Given the description of an element on the screen output the (x, y) to click on. 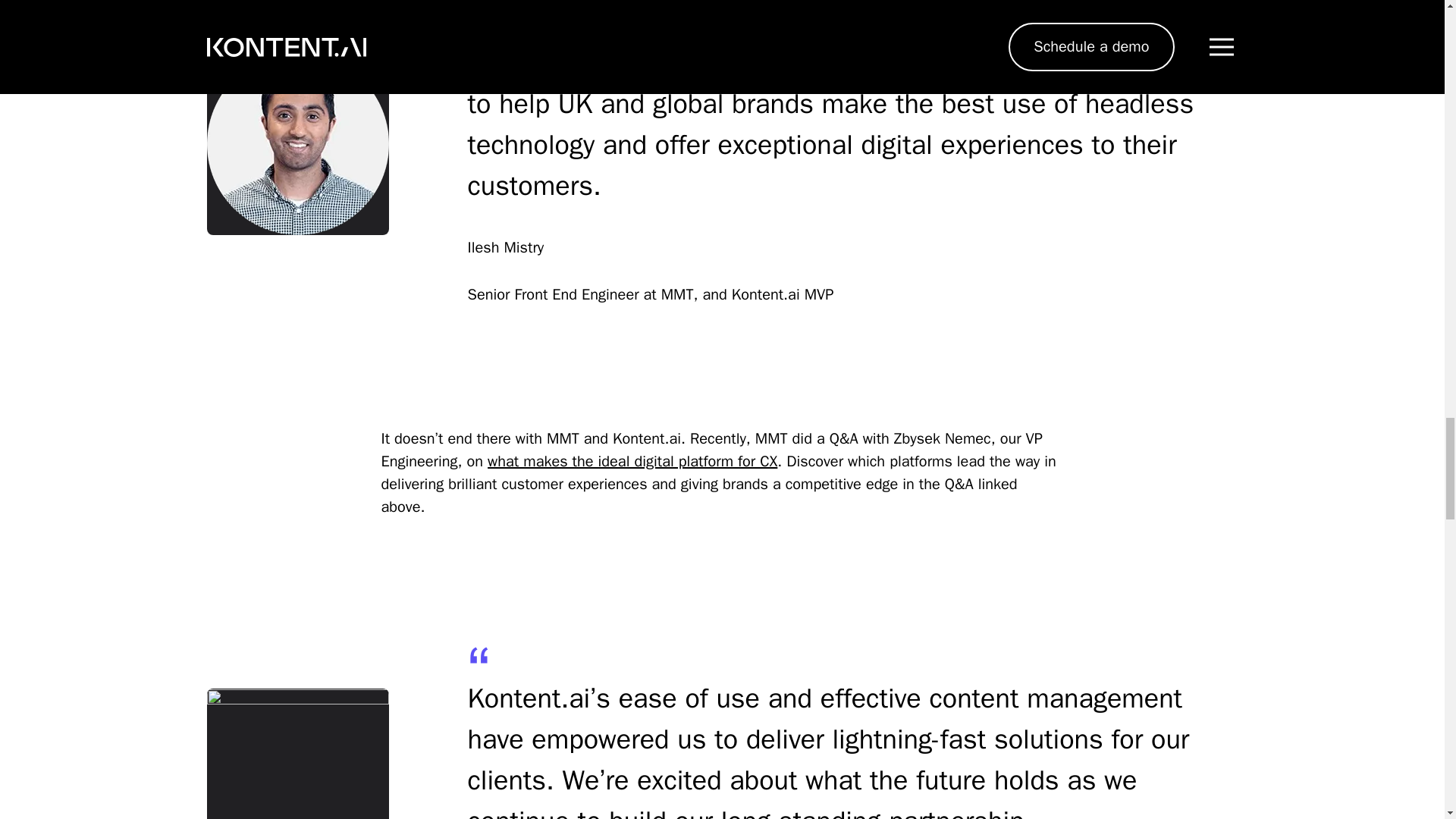
what makes the ideal digital platform for CX (632, 461)
